Given the description of an element on the screen output the (x, y) to click on. 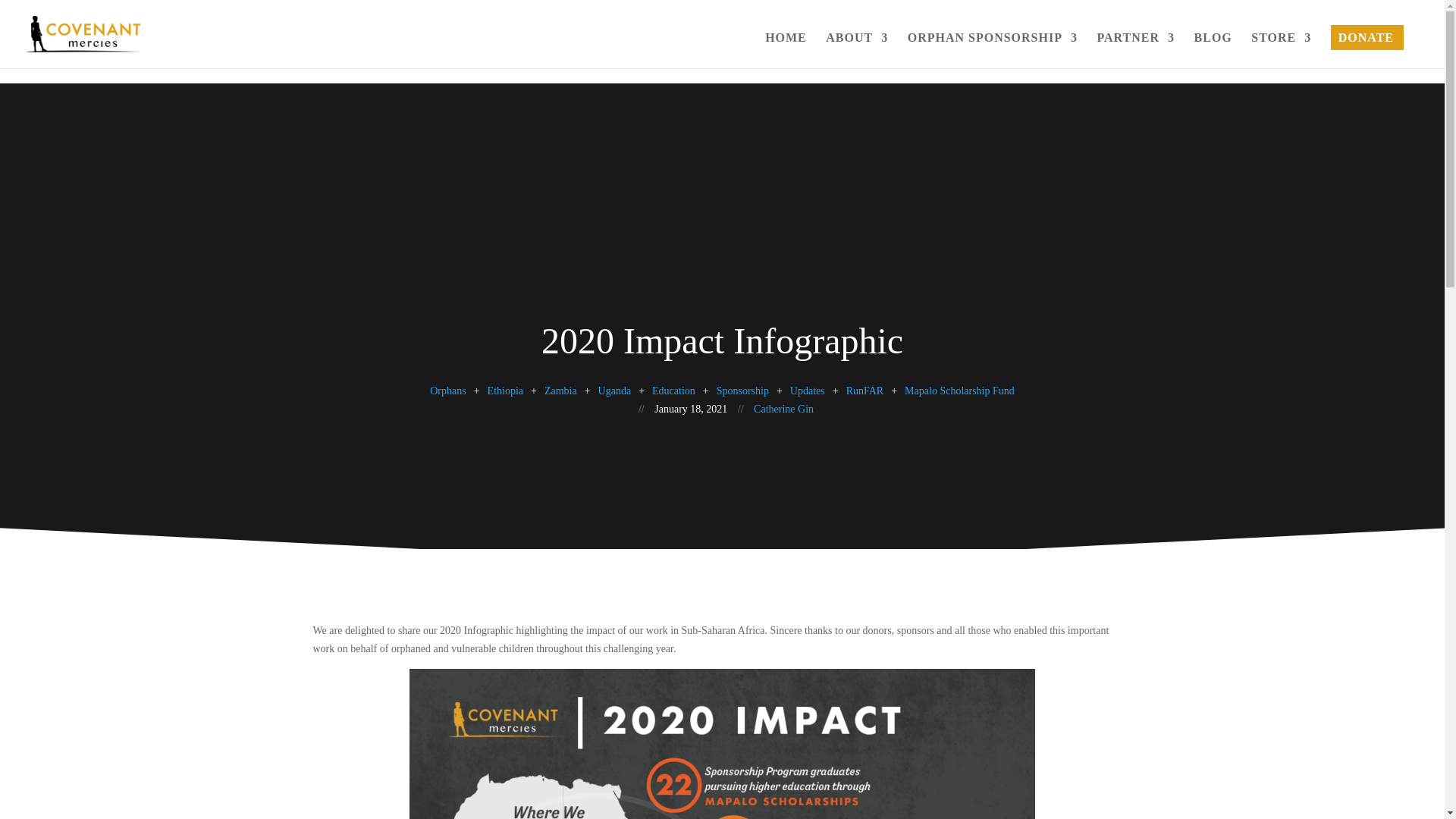
PARTNER (1135, 49)
HOME (785, 49)
ABOUT (856, 49)
STORE (1280, 49)
BLOG (1212, 49)
Posts by Catherine Gin (783, 408)
DONATE (1365, 49)
ORPHAN SPONSORSHIP (992, 49)
